Given the description of an element on the screen output the (x, y) to click on. 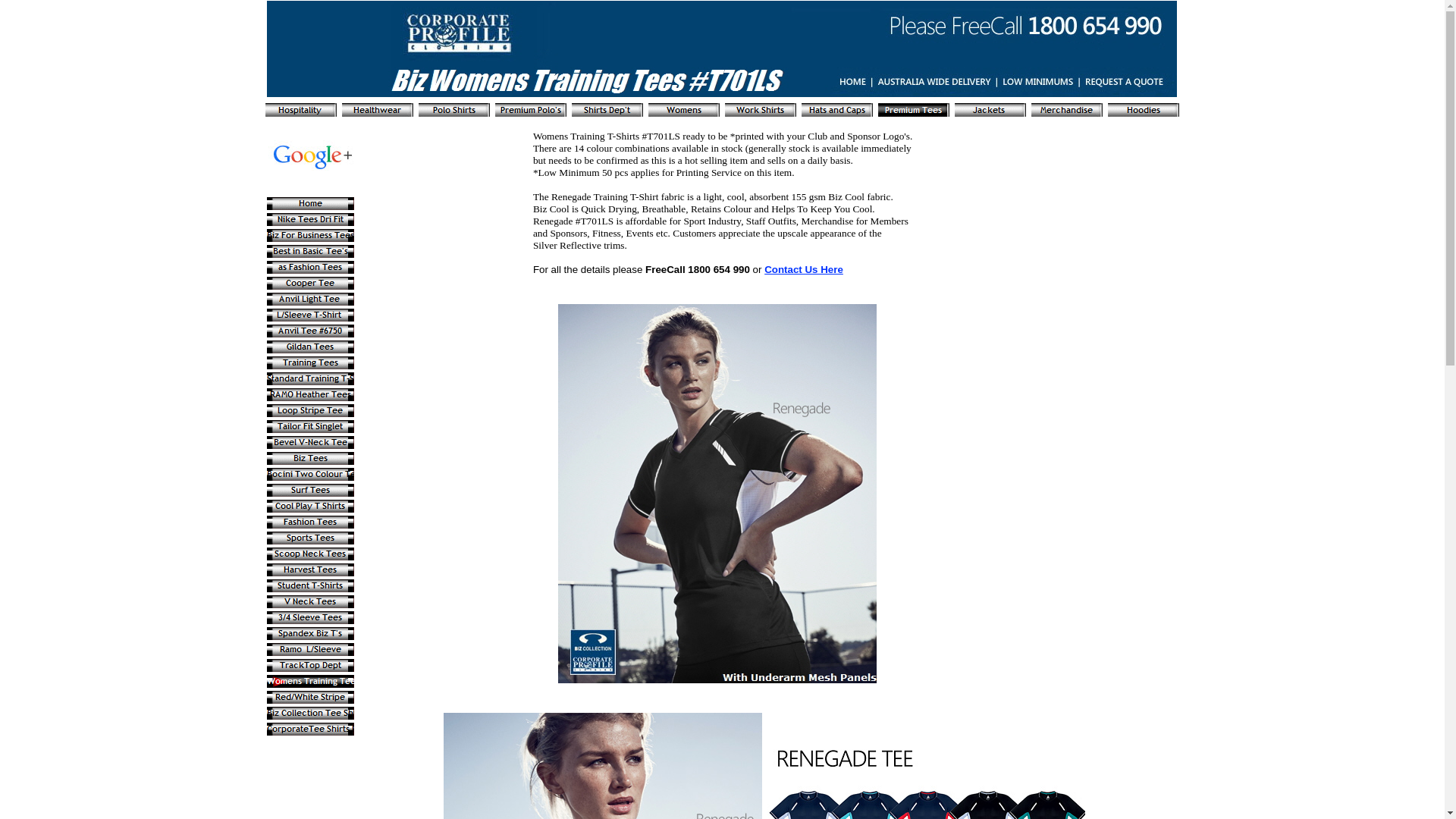
Harvest Tees Element type: hover (310, 569)
Nike Tees Dri Fit Element type: hover (310, 219)
Biz Tees Element type: hover (310, 457)
Shirts Dep't Element type: hover (607, 109)
Cool Play T Shirts Element type: hover (310, 505)
Fashion Tees Element type: hover (310, 521)
Home Element type: hover (310, 203)
Loop Stripe Tee Element type: hover (310, 410)
Sports Tees Element type: hover (310, 537)
Anvil Tee #6750 Element type: hover (310, 330)
Tailor Fit Singlet Element type: hover (310, 426)
Hoodies Element type: hover (1143, 109)
Biz Womens Training Tees #T701LS Element type: hover (721, 48)
Best in Basic Tee's Element type: hover (310, 250)
Red/White Stripe Element type: hover (310, 696)
Womens Element type: hover (683, 109)
L/Sleeve T-Shirt  Element type: hover (310, 314)
CorporateTee Shirts Price List Element type: hover (310, 728)
3/4 Sleeve Tees Element type: hover (310, 617)
Gildan Tees Element type: hover (310, 346)
Ramo  L/Sleeve Element type: hover (310, 649)
Anvil Light Tee  Element type: hover (310, 298)
Hospitality  Element type: hover (300, 109)
Jackets  Element type: hover (990, 109)
Work Shirts Element type: hover (760, 109)
Biz For Business Tees Element type: hover (310, 235)
Student T-Shirts Element type: hover (310, 585)
Standard Training T-Shirts Element type: hover (310, 378)
Polo Shirts Element type: hover (453, 109)
Google+ Find Us On Google+ Element type: hover (314, 156)
RAMO Heather Tees Element type: hover (310, 394)
Contact Us Here Element type: text (803, 269)
Biz Collection Tee Shirts Price List Element type: hover (310, 712)
Training Tees Element type: hover (310, 362)
Bocini Two Colour Tees Element type: hover (310, 473)
Surf Tees Element type: hover (310, 489)
Merchandise Element type: hover (1066, 109)
Womens Renegade Training Tee #T701LS With Print Service Element type: hover (717, 493)
Bevel V-Neck Tee Element type: hover (310, 442)
Cooper Tee Element type: hover (310, 282)
as Fashion Tees Element type: hover (310, 266)
TrackTop Dept Element type: hover (310, 664)
Scoop Neck Tees Element type: hover (310, 553)
V Neck Tees Element type: hover (310, 601)
Womens Training Tee Element type: hover (310, 680)
Premium Polo's Element type: hover (530, 109)
Premium Tees Element type: hover (913, 109)
Hats and Caps Element type: hover (836, 109)
Healthwear Element type: hover (377, 109)
Spandex Biz T's Element type: hover (310, 633)
